Given the description of an element on the screen output the (x, y) to click on. 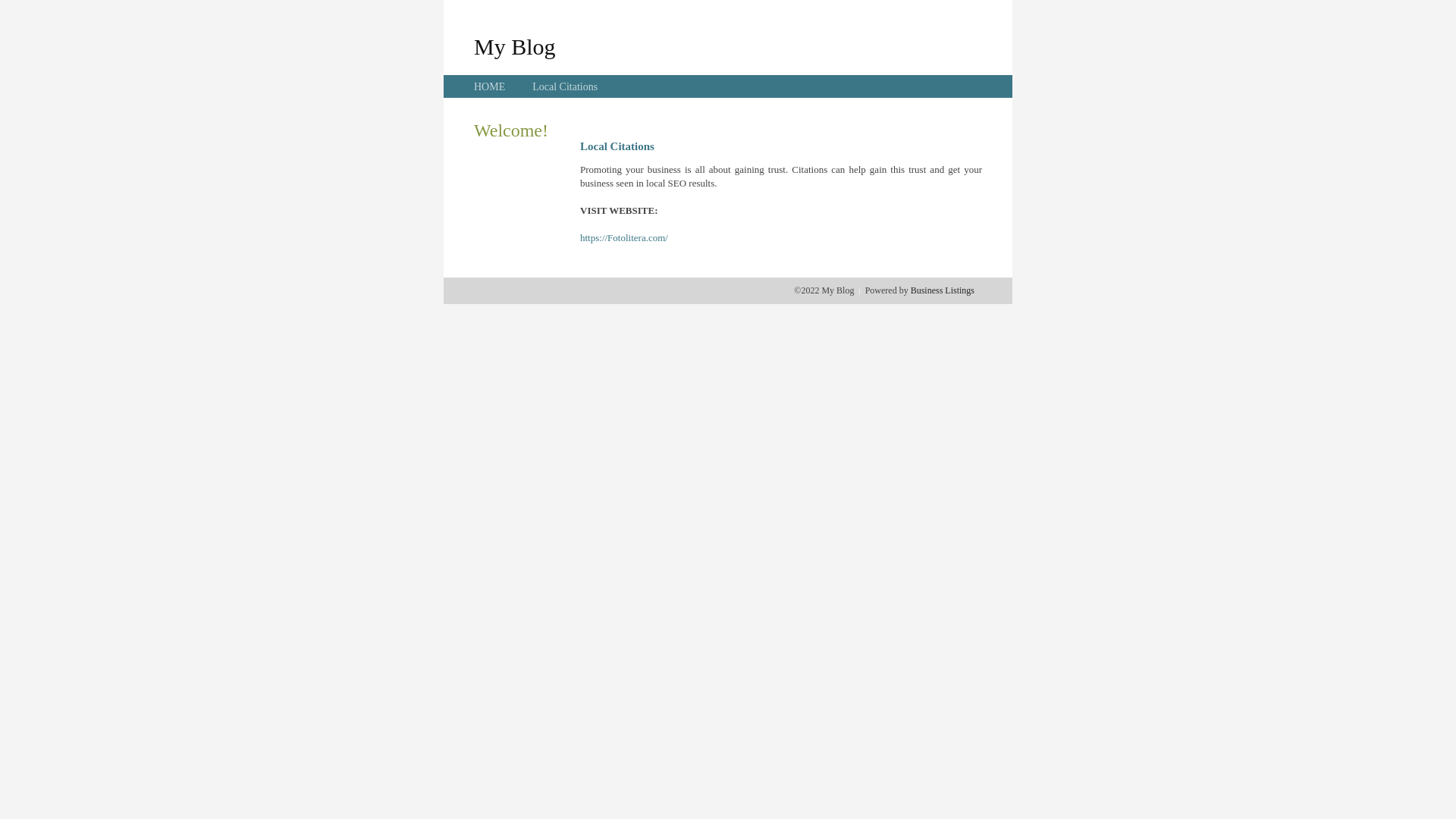
https://Fotolitera.com/ Element type: text (624, 237)
Business Listings Element type: text (942, 290)
My Blog Element type: text (514, 46)
HOME Element type: text (489, 86)
Local Citations Element type: text (564, 86)
